Given the description of an element on the screen output the (x, y) to click on. 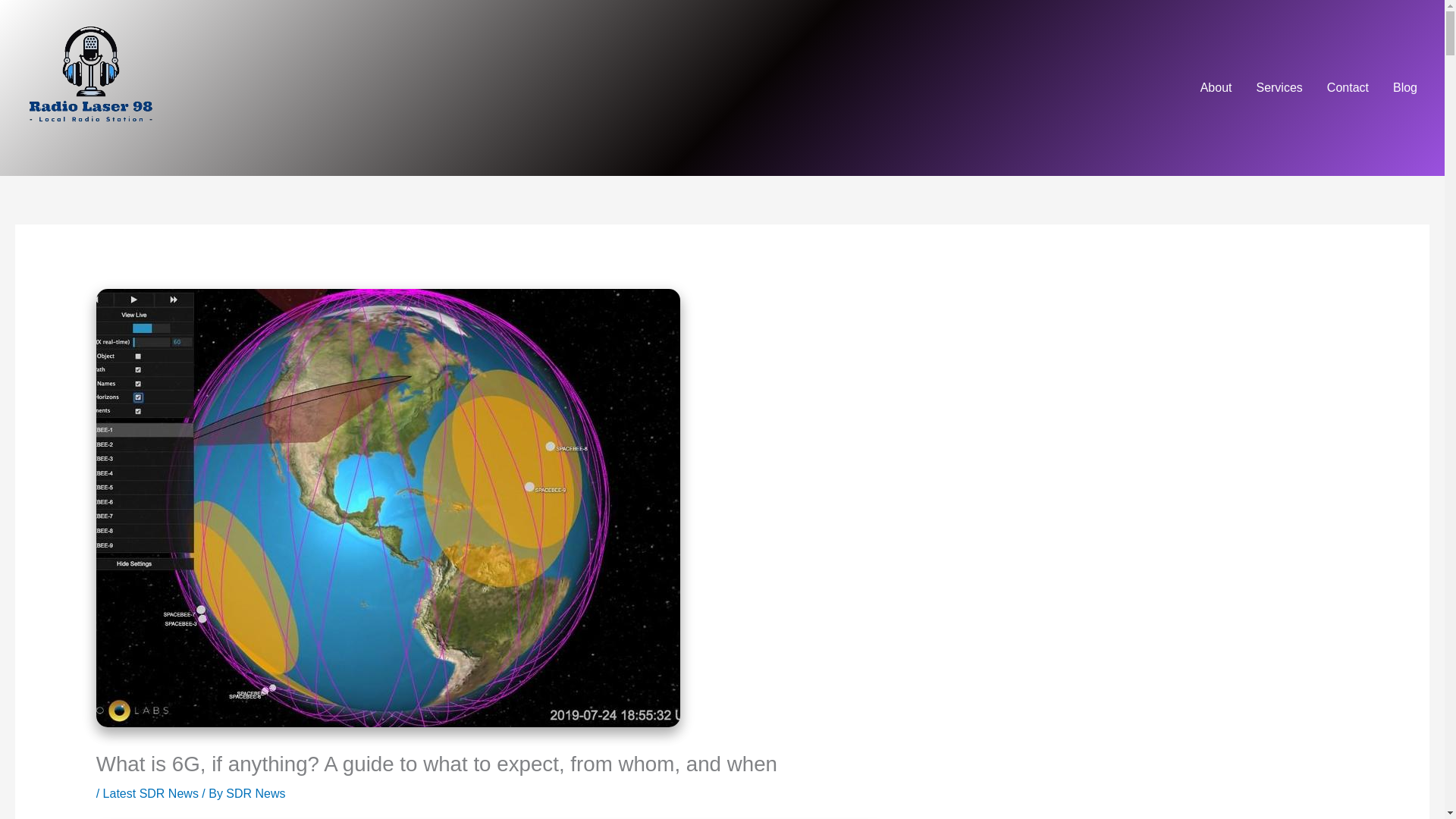
Latest SDR News (150, 793)
SDR News (255, 793)
About (1216, 87)
View all posts by SDR News (255, 793)
Services (1278, 87)
Blog (1404, 87)
Contact (1347, 87)
